Given the description of an element on the screen output the (x, y) to click on. 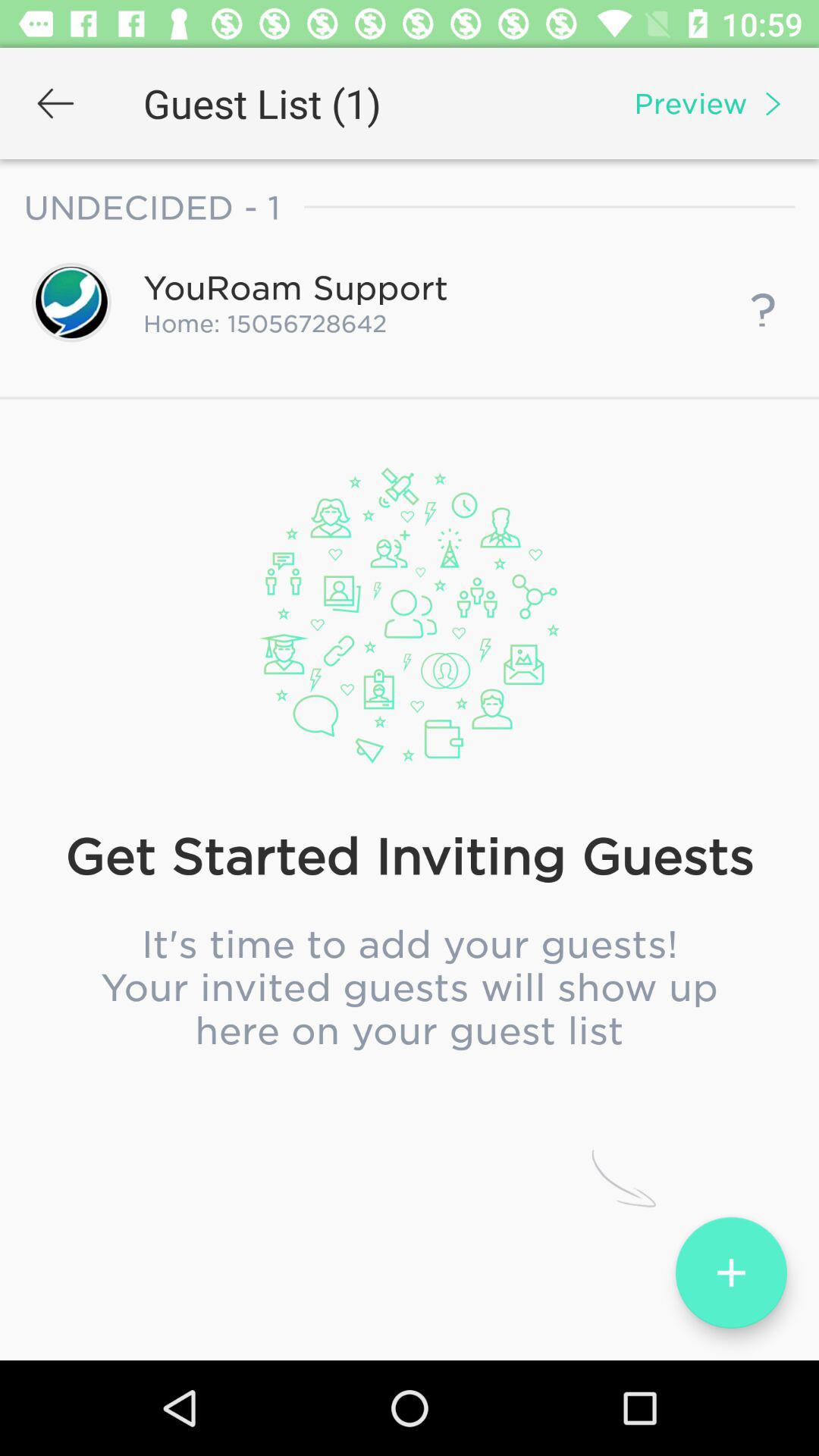
turn on the party test item (409, 506)
